Given the description of an element on the screen output the (x, y) to click on. 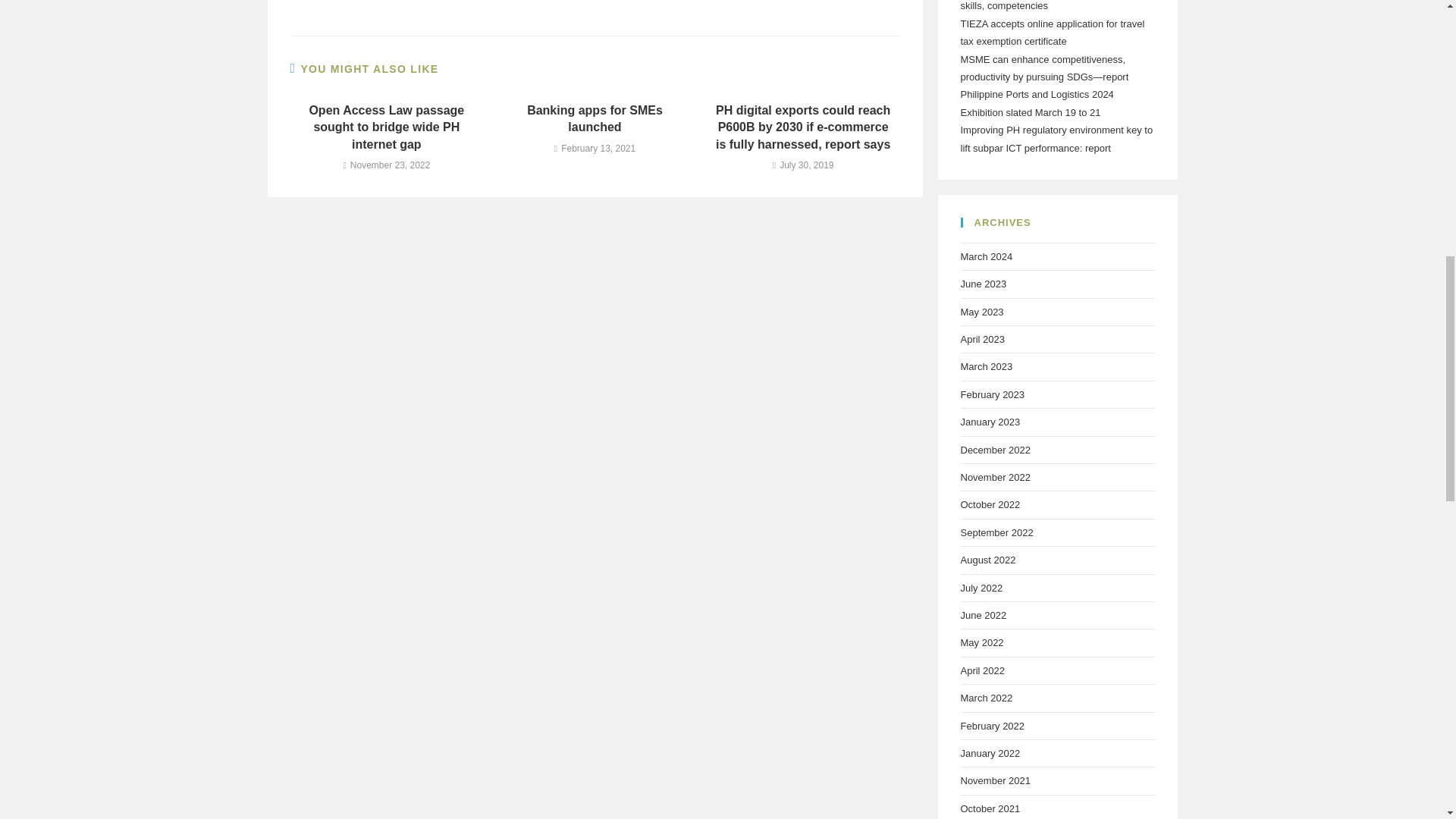
Banking apps for SMEs launched (594, 119)
